Given the description of an element on the screen output the (x, y) to click on. 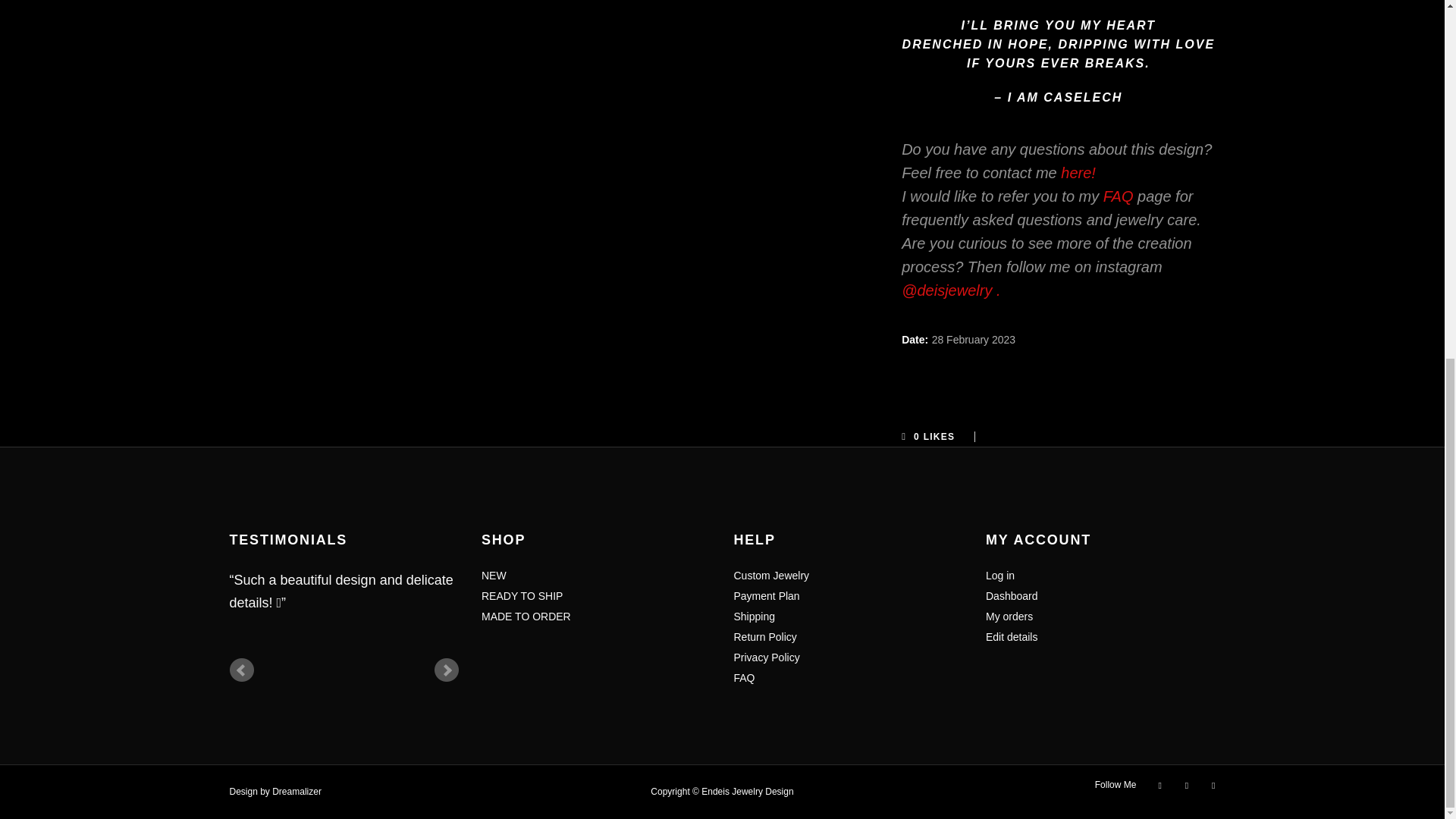
Custom Jewelry  (772, 566)
FAQ (1118, 196)
Next (445, 670)
0LIKES (941, 435)
Prev (240, 670)
Shipping (754, 607)
READY TO SHIP (521, 586)
here (1075, 172)
Payment Plan (766, 586)
Like this (941, 435)
